Given the description of an element on the screen output the (x, y) to click on. 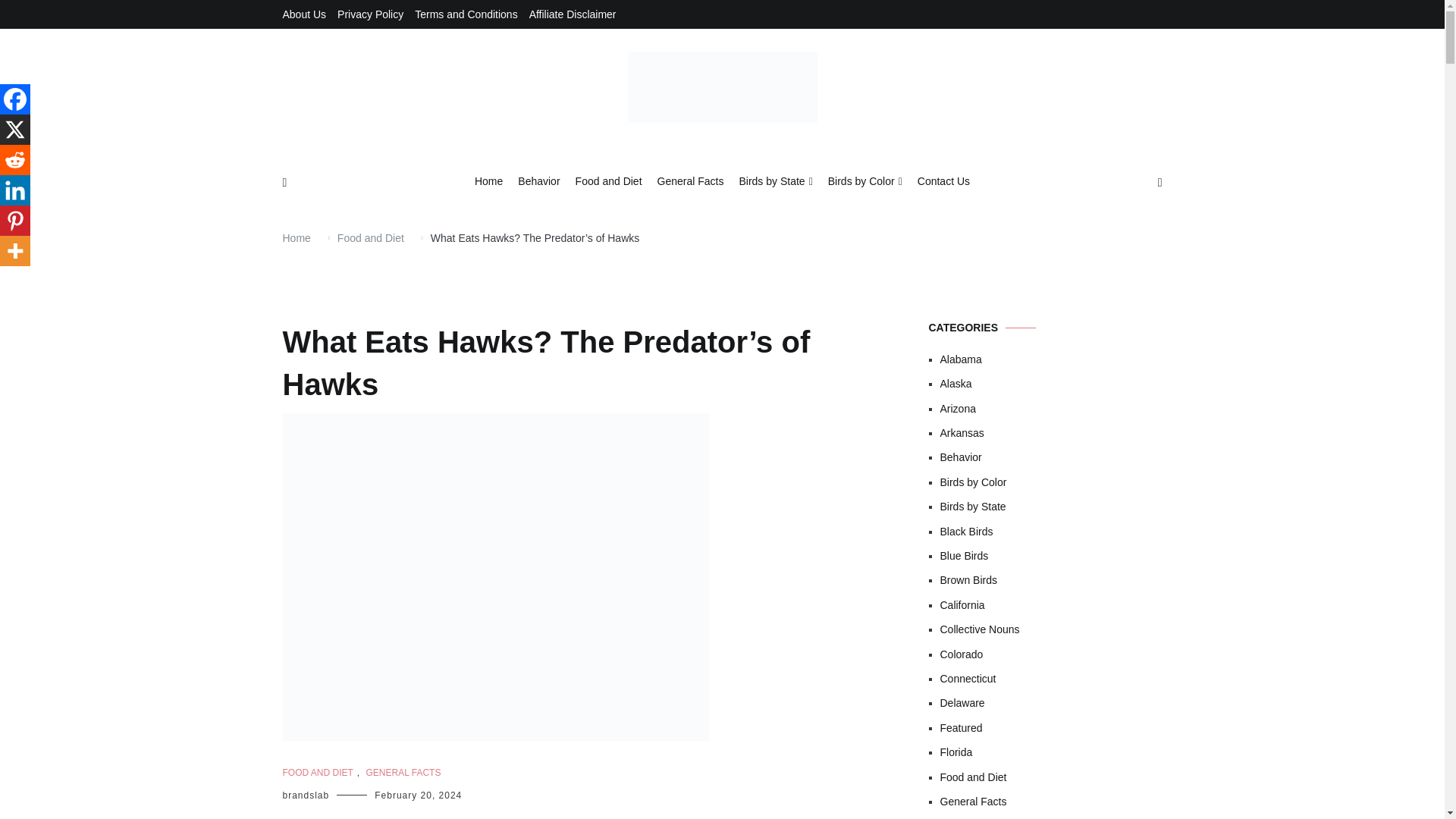
Affiliate Disclaimer (572, 14)
Contact Us (943, 181)
Birds by Color (865, 181)
Bird Sology (672, 162)
Terms and Conditions (465, 14)
X (15, 129)
Birds by State (775, 181)
About Us (304, 14)
Privacy Policy (370, 14)
General Facts (690, 181)
Behavior (538, 181)
Reddit (15, 159)
Home (488, 181)
Linkedin (15, 190)
Food and Diet (608, 181)
